Given the description of an element on the screen output the (x, y) to click on. 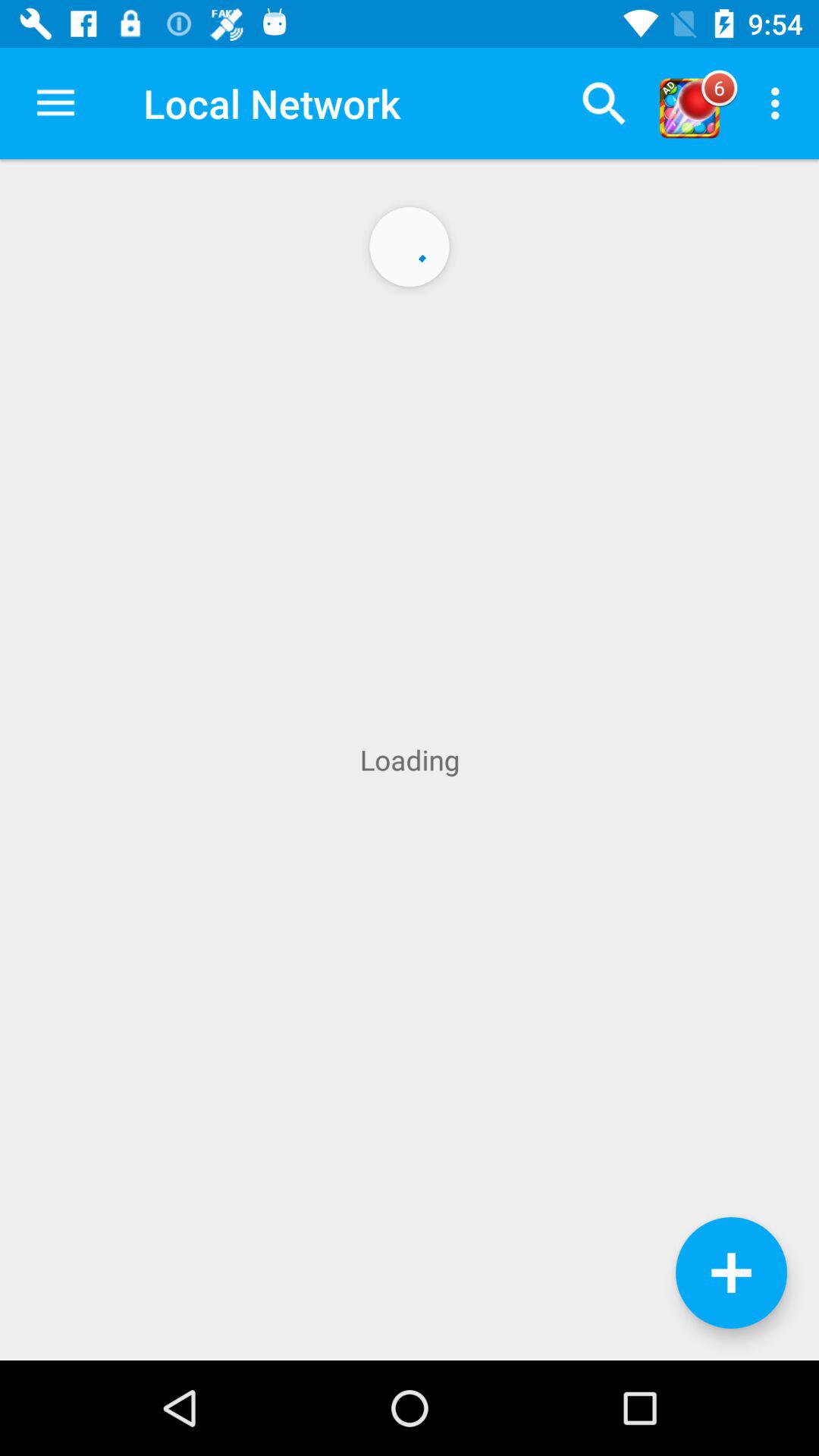
select item next to local network icon (603, 103)
